Given the description of an element on the screen output the (x, y) to click on. 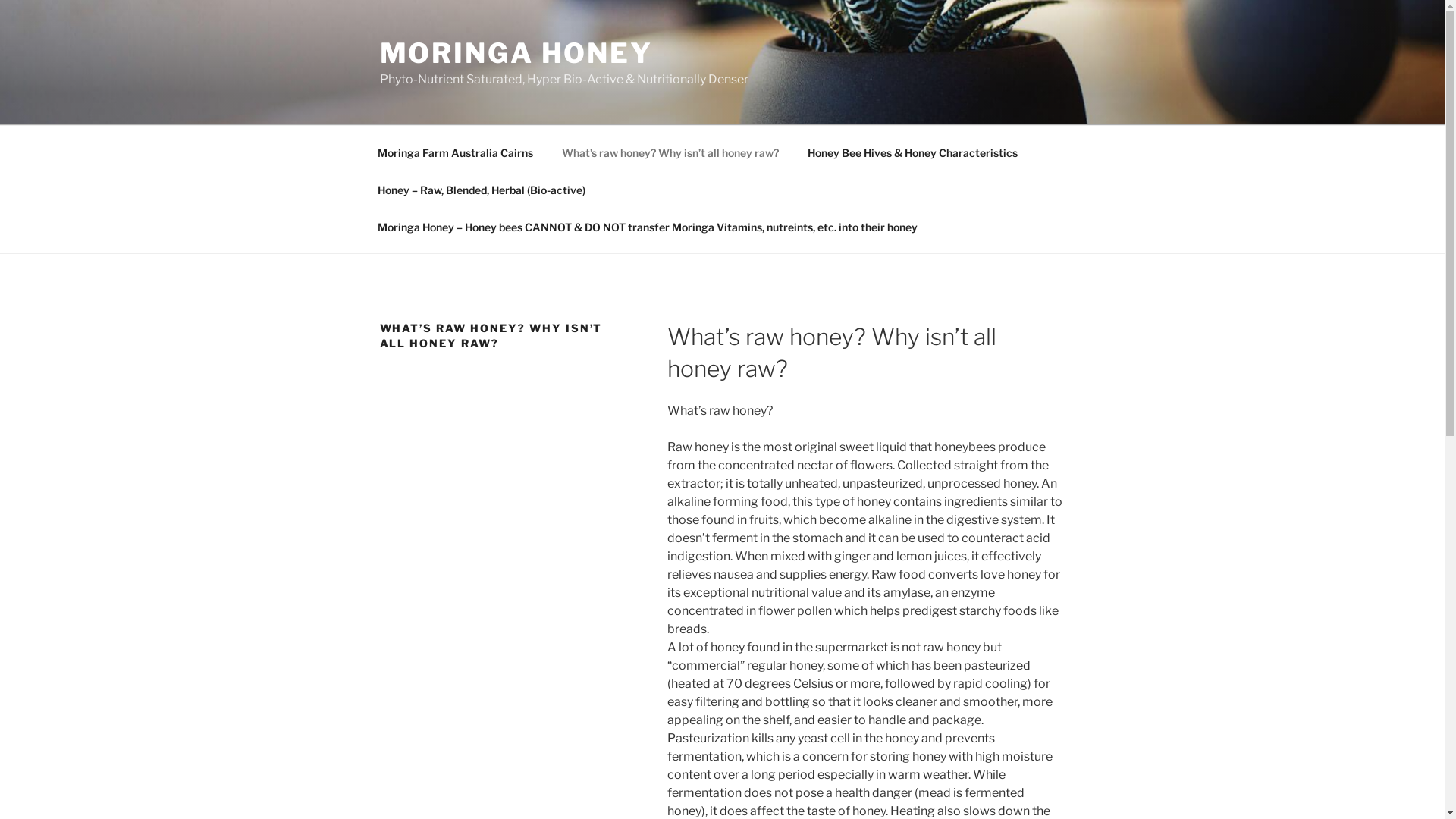
Honey Bee Hives & Honey Characteristics Element type: text (912, 151)
Moringa Farm Australia Cairns Element type: text (455, 151)
MORINGA HONEY Element type: text (515, 52)
